Given the description of an element on the screen output the (x, y) to click on. 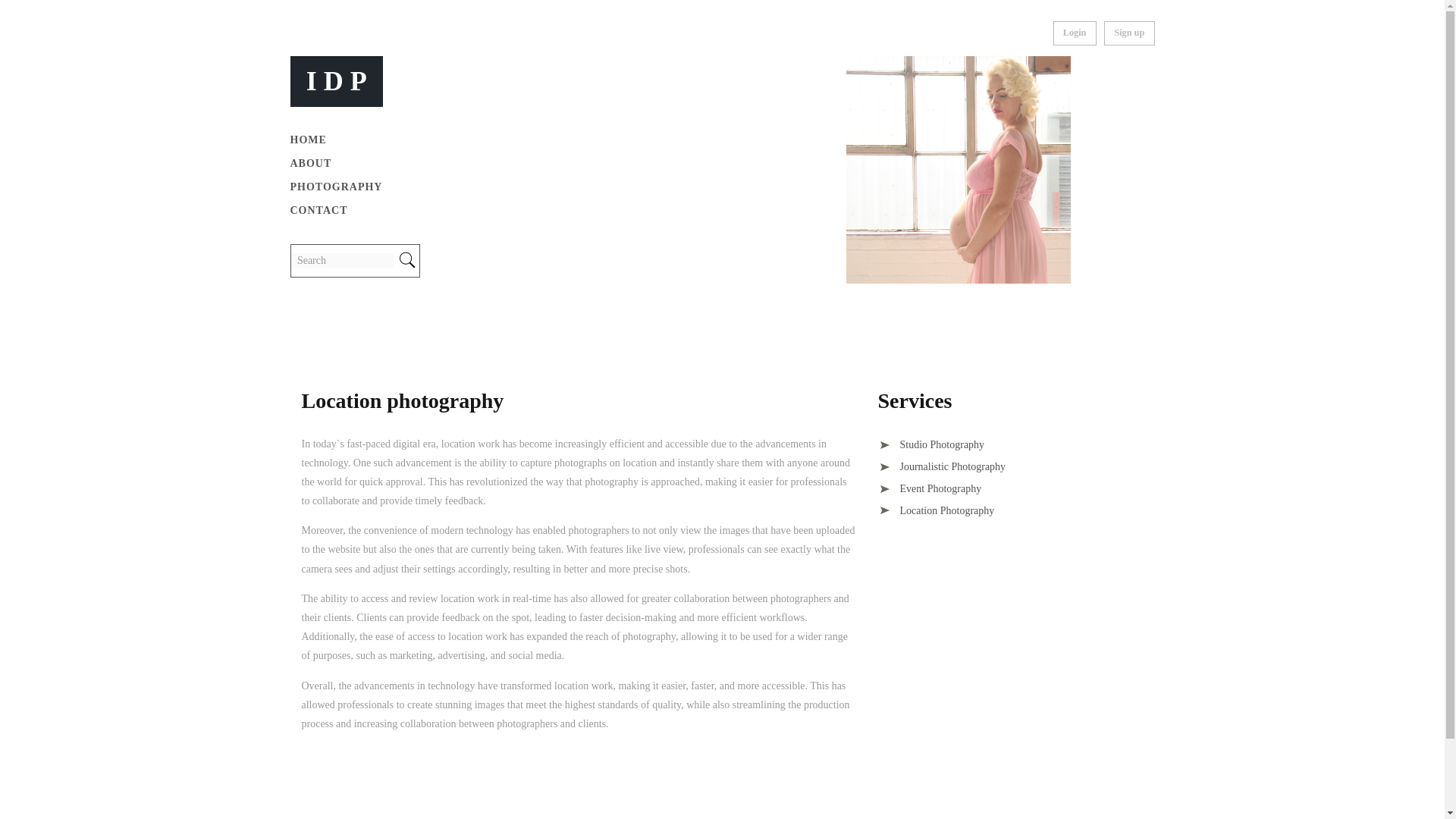
I D P (335, 80)
ABOUT (310, 163)
Event Photography (929, 488)
Studio Photography (931, 444)
Search (342, 260)
Location Photography (935, 510)
Sign up (1128, 33)
CONTACT (318, 210)
PHOTOGRAPHY (335, 187)
Login (1074, 33)
Journalistic Photography (941, 466)
HOME (307, 139)
